Given the description of an element on the screen output the (x, y) to click on. 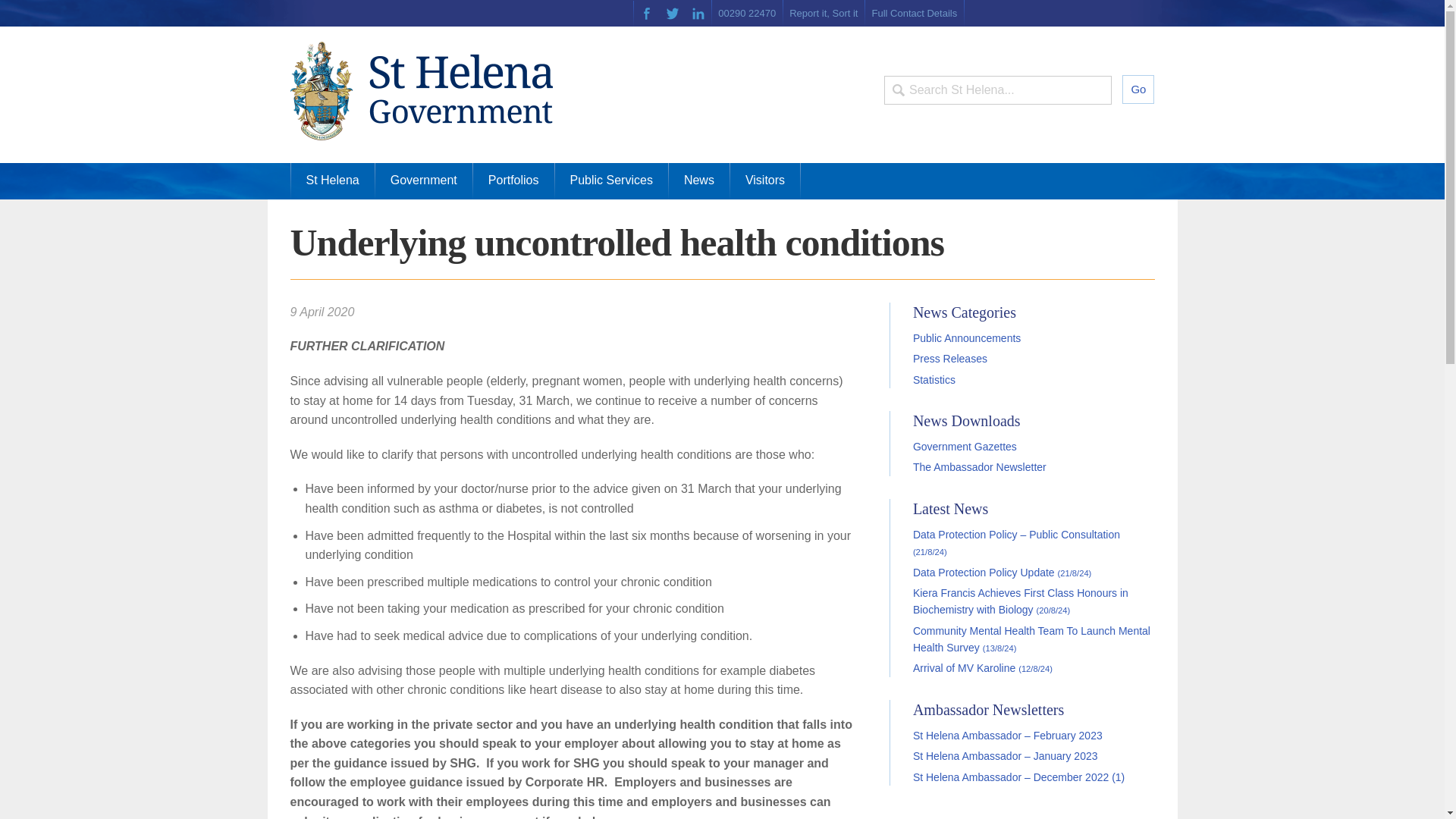
Permanent Link to Arrival of MV Karoline (982, 667)
Go (1138, 89)
Permanent Link to Data Protection Policy Update (1001, 572)
Go (1138, 89)
